Given the description of an element on the screen output the (x, y) to click on. 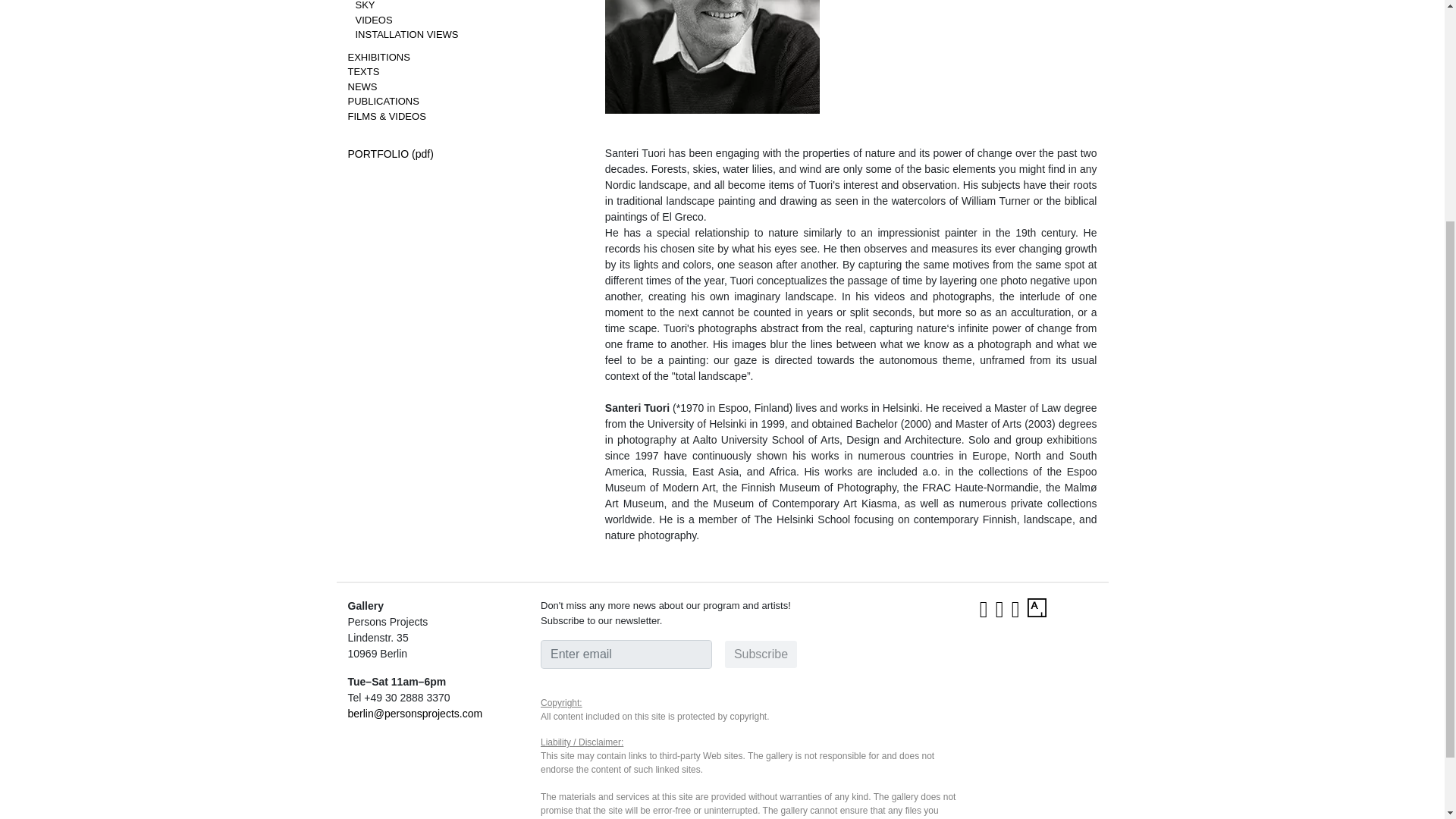
INSTALLATION VIEWS (406, 34)
Santeri Tuori - exhibitions (378, 57)
VIDEOS (373, 19)
EXHIBITIONS (378, 57)
TEXTS (362, 71)
SKY (364, 5)
Subscribe (760, 654)
PUBLICATIONS (383, 101)
Subscribe (760, 654)
NEWS (362, 86)
